Given the description of an element on the screen output the (x, y) to click on. 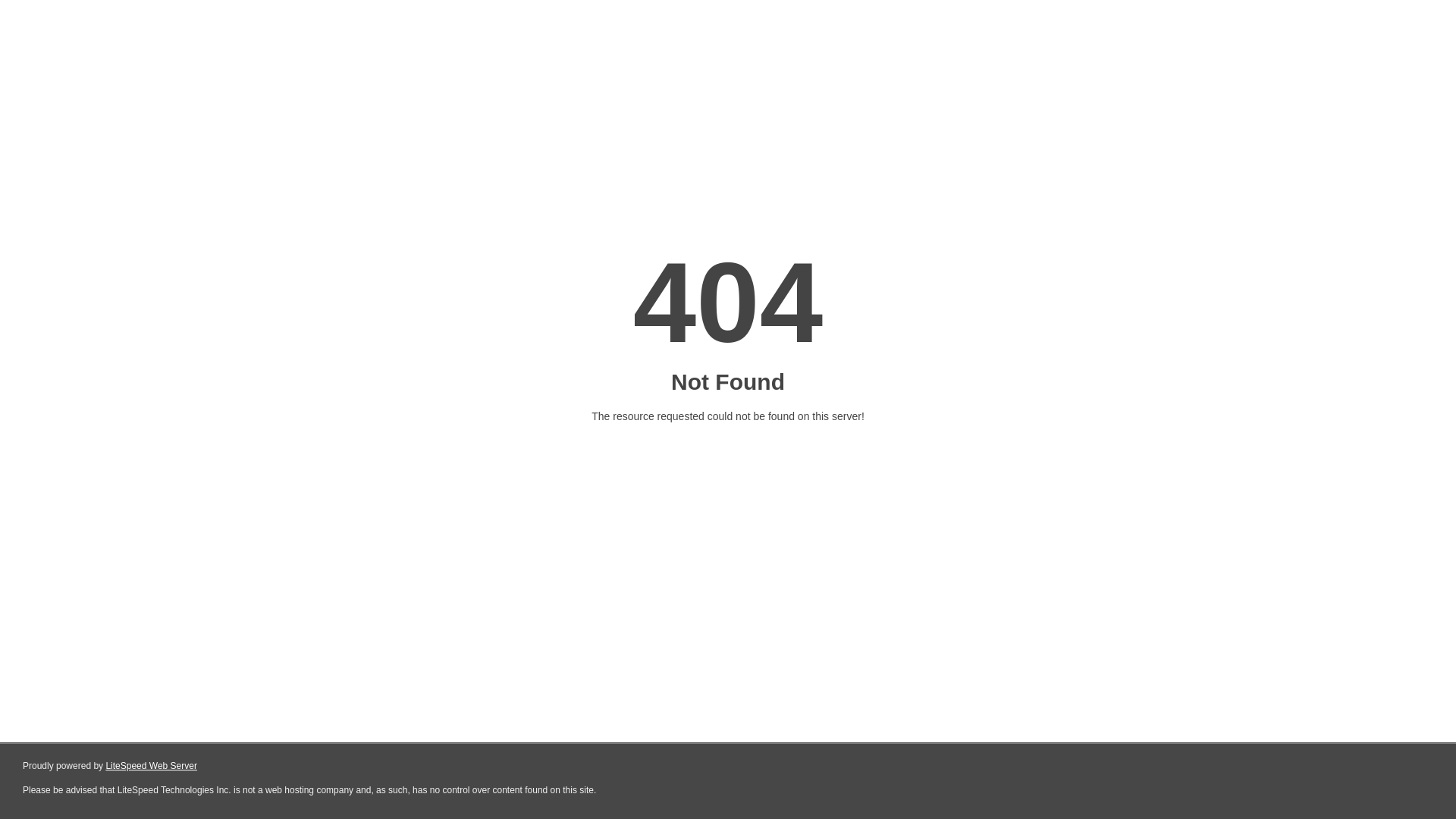
LiteSpeed Web Server Element type: text (151, 765)
